Given the description of an element on the screen output the (x, y) to click on. 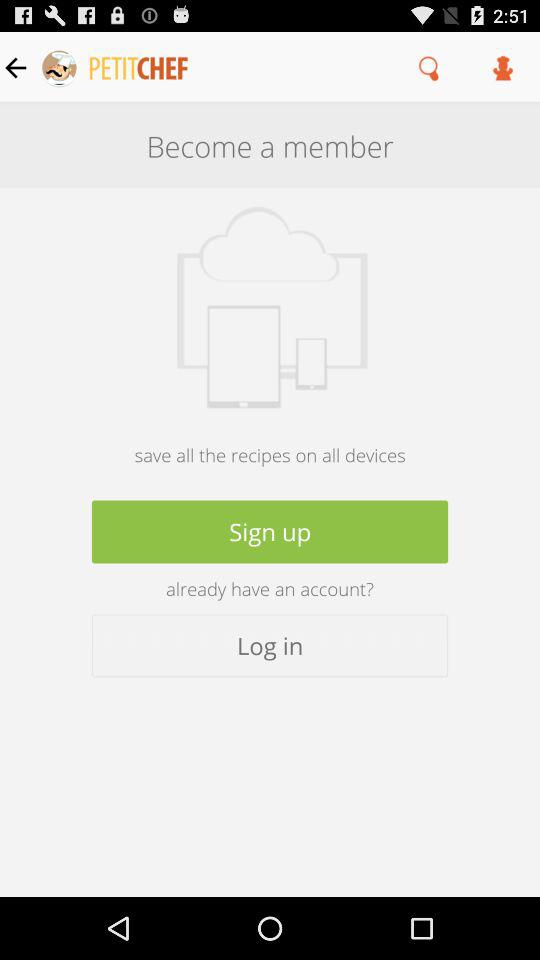
press the sign up item (269, 531)
